Given the description of an element on the screen output the (x, y) to click on. 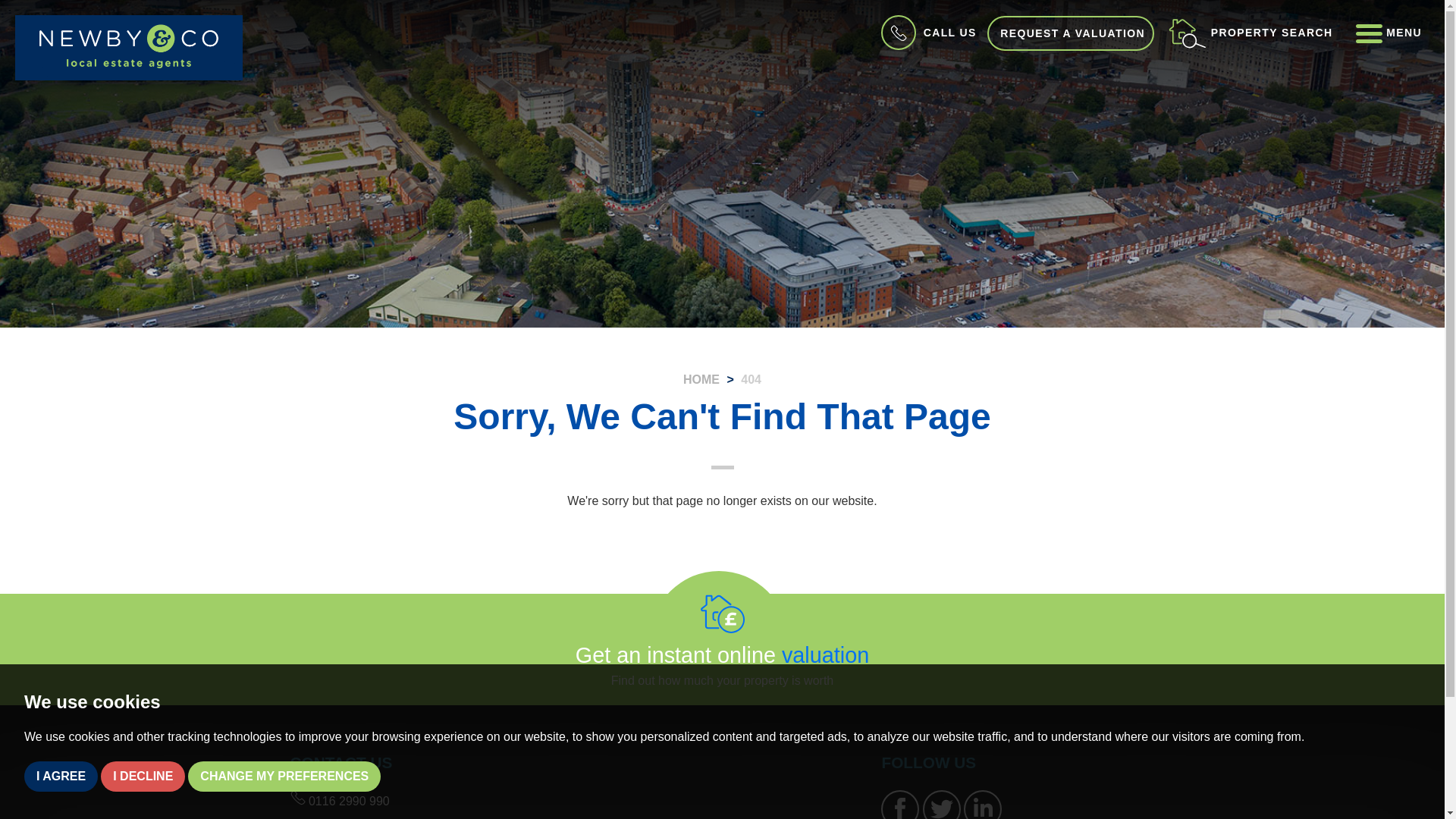
I DECLINE (142, 776)
CHANGE MY PREFERENCES (283, 776)
PROPERTY SEARCH (1250, 32)
I AGREE (60, 776)
HOME (700, 379)
CALL US (926, 32)
MENU (1386, 32)
REQUEST A VALUATION (1070, 32)
404 (751, 379)
0116 2990 990 (338, 800)
